Given the description of an element on the screen output the (x, y) to click on. 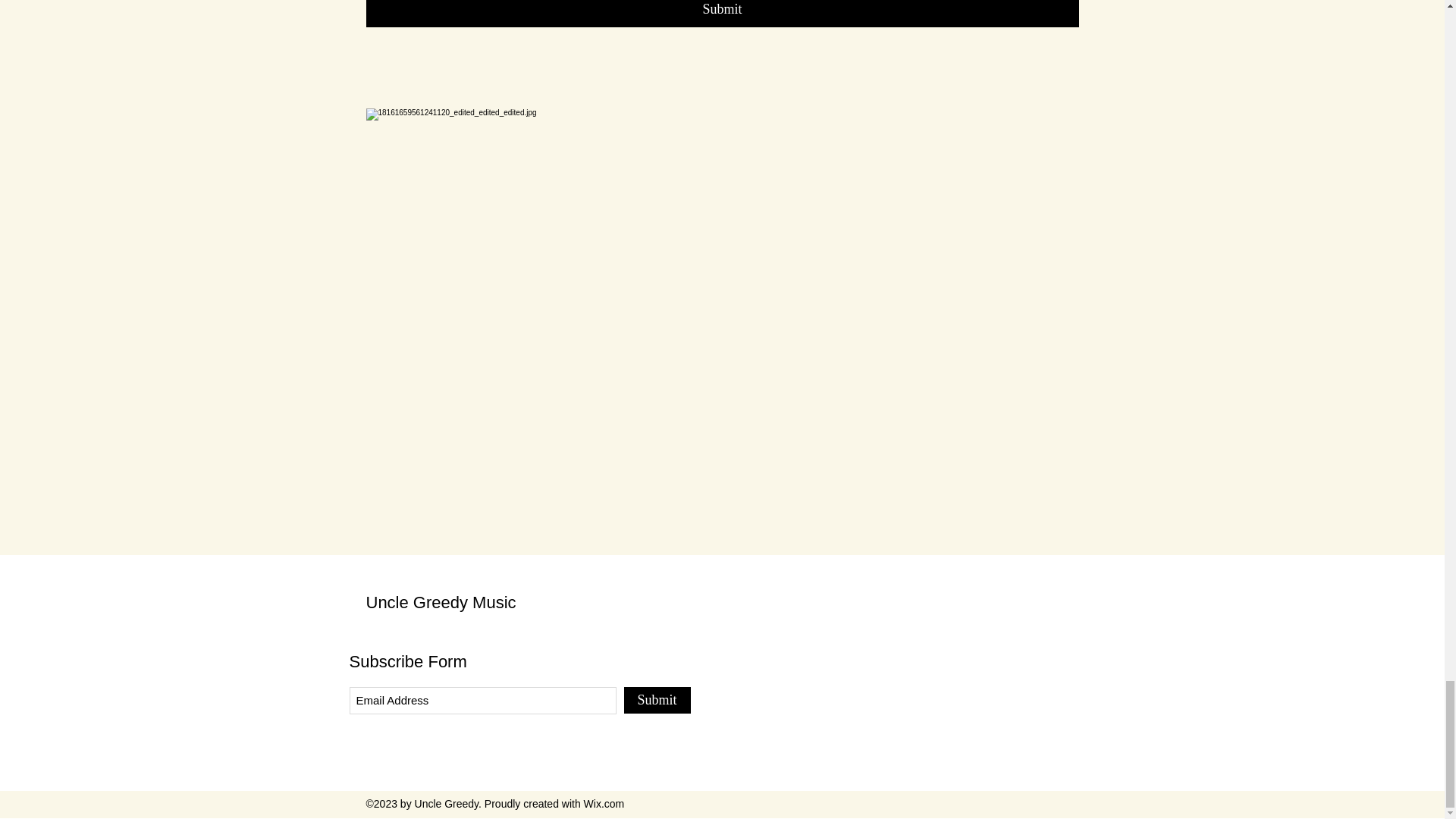
Submit (721, 13)
Submit (656, 700)
Uncle Greedy Music (440, 601)
